Given the description of an element on the screen output the (x, y) to click on. 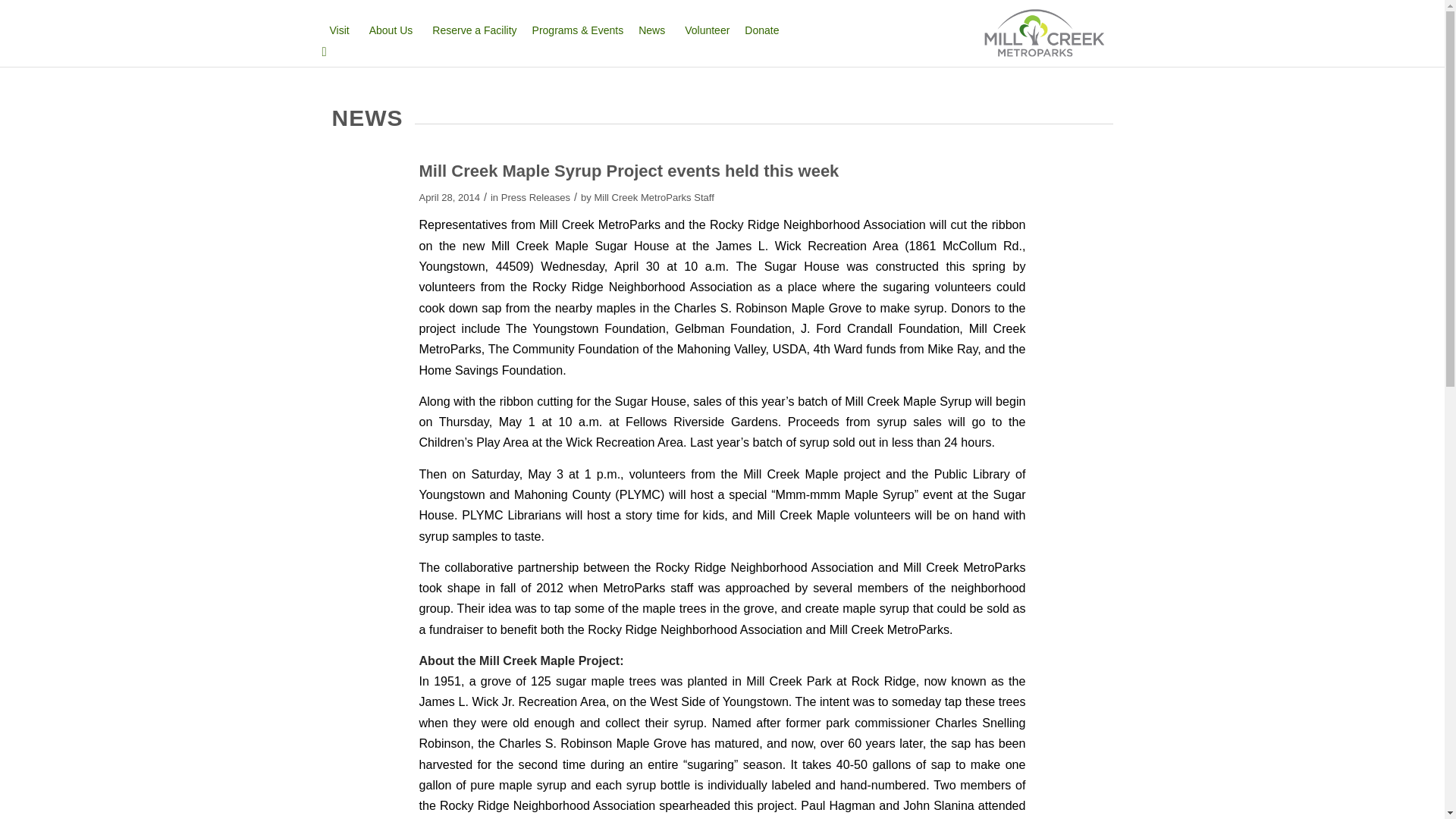
Posts by Mill Creek MetroParks Staff (653, 197)
About Us (393, 29)
Visit (341, 29)
